Given the description of an element on the screen output the (x, y) to click on. 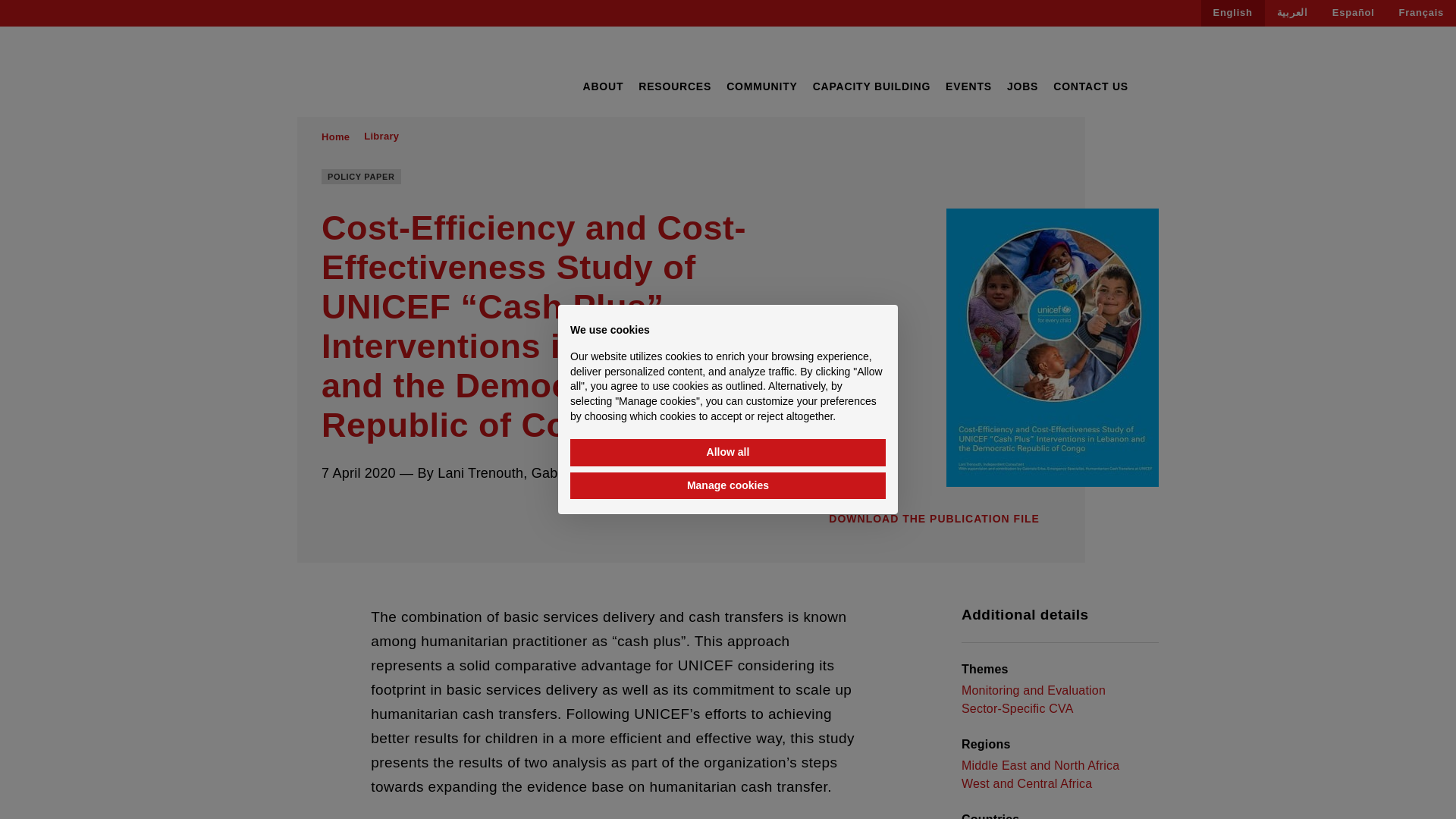
Share on email (414, 512)
CONTACT US (1090, 86)
COMMUNITY (761, 86)
Go to Library (381, 136)
JOBS (1022, 86)
Share on Twitter (356, 512)
EVENTS (967, 86)
CAPACITY BUILDING (871, 86)
